Given the description of an element on the screen output the (x, y) to click on. 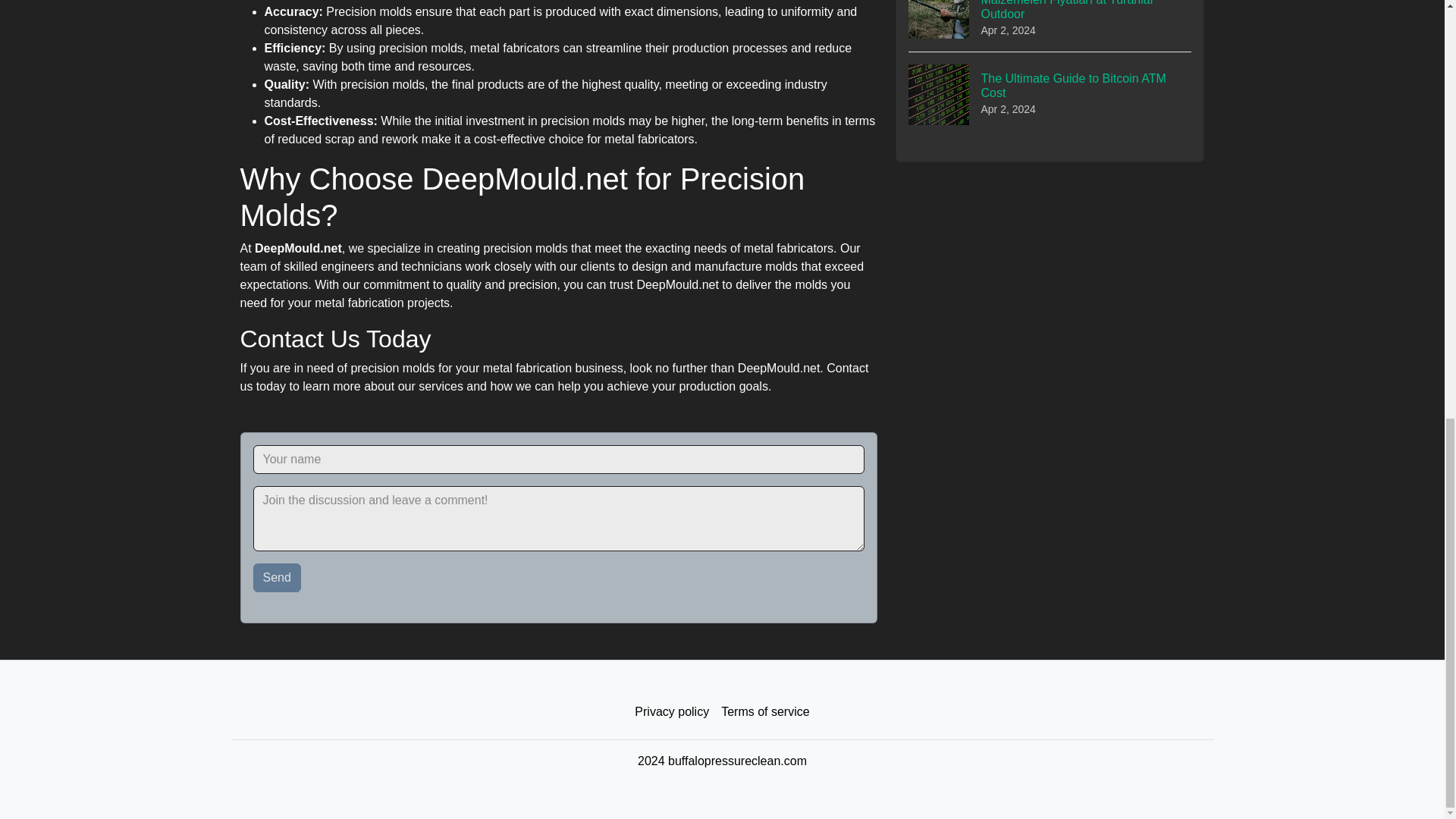
Send (277, 577)
Terms of service (1050, 94)
Send (764, 711)
Privacy policy (277, 577)
